Given the description of an element on the screen output the (x, y) to click on. 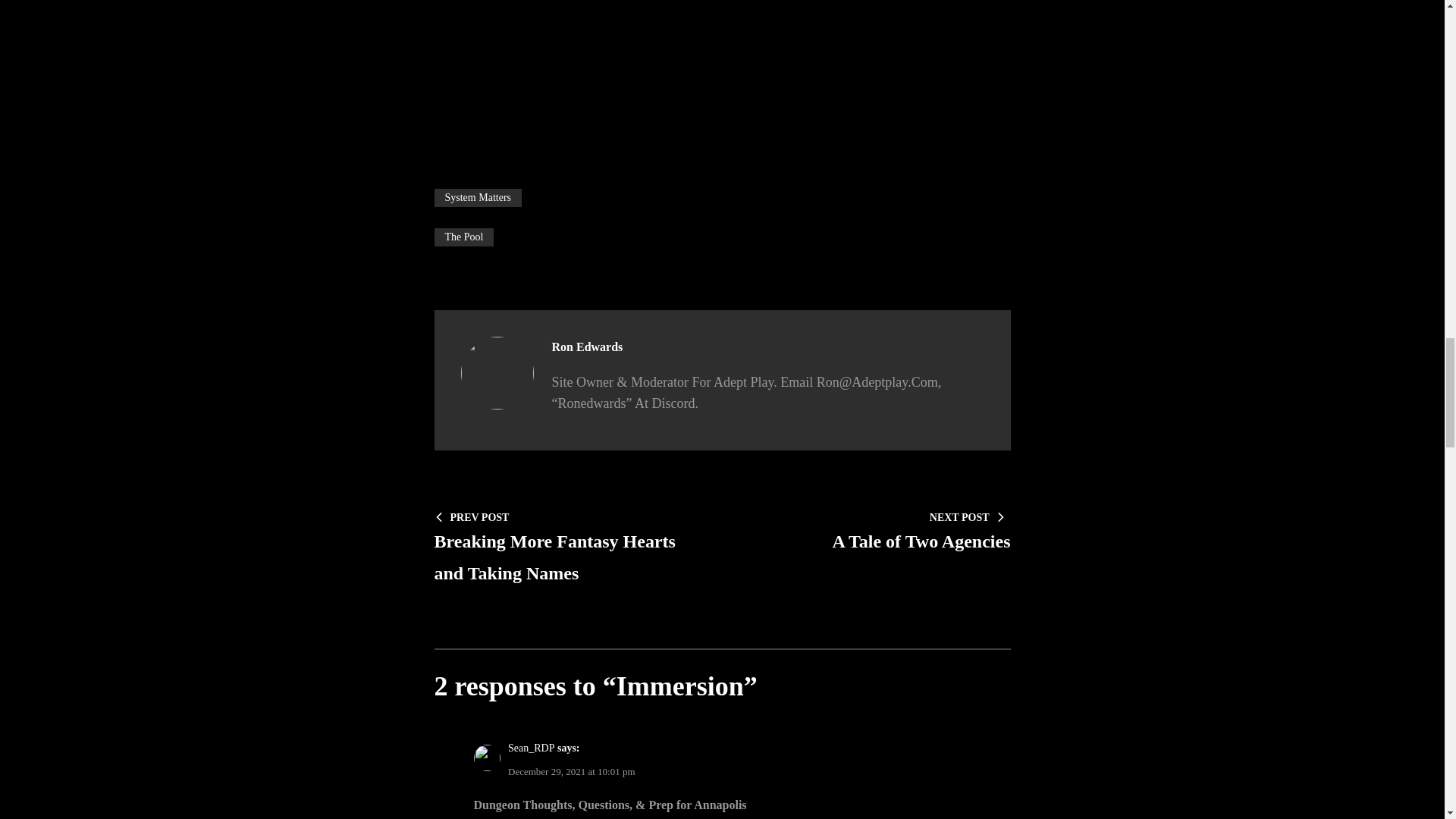
Talking about The Pool in play part 1 (721, 63)
December 29, 2021 at 10:01 pm (571, 771)
The Pool (463, 237)
System Matters (569, 546)
